Given the description of an element on the screen output the (x, y) to click on. 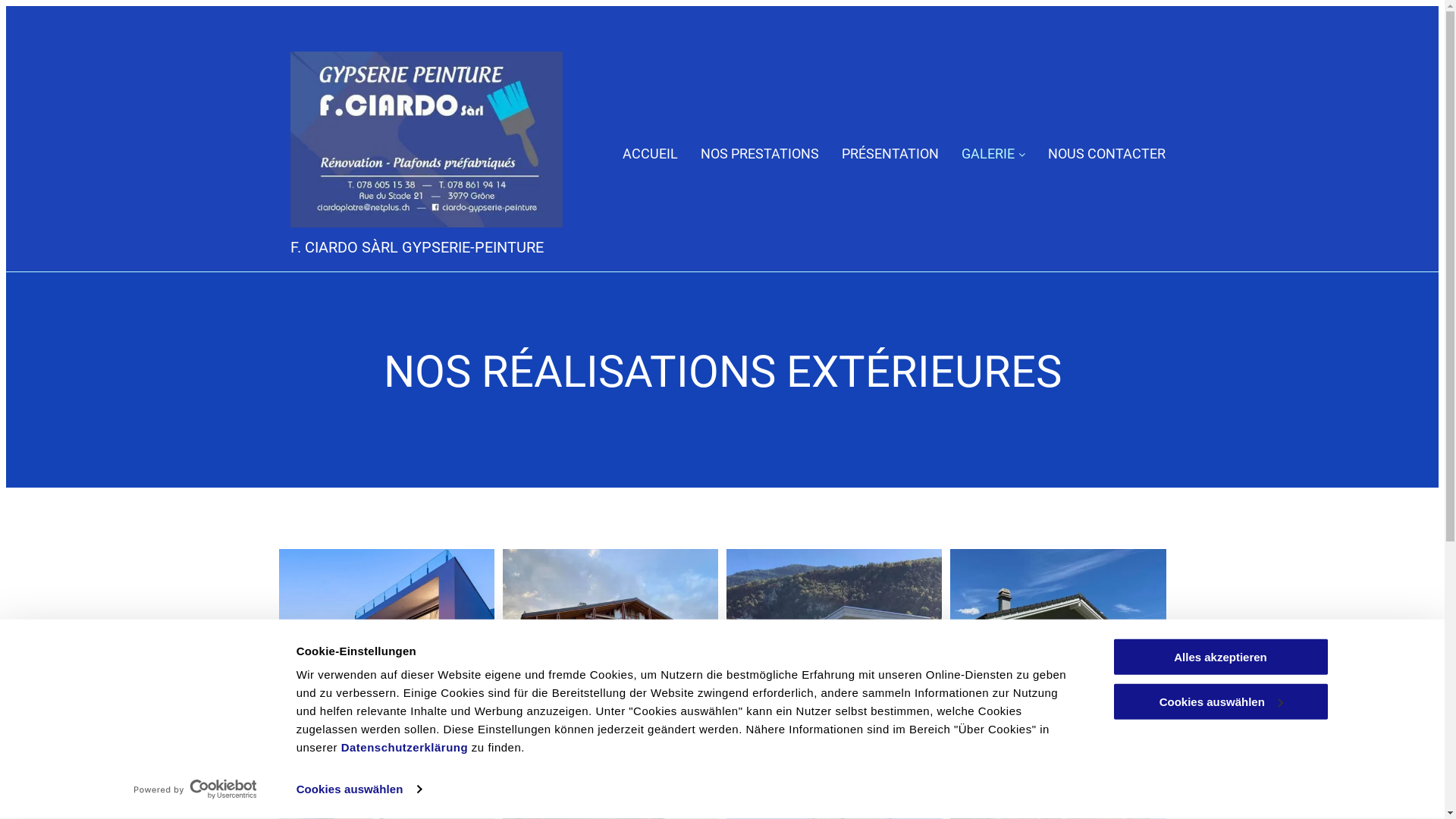
GALERIE Element type: text (993, 153)
ACCUEIL Element type: text (649, 153)
NOUS CONTACTER Element type: text (1106, 153)
Alles akzeptieren Element type: text (1219, 656)
NOS PRESTATIONS Element type: text (759, 153)
